Given the description of an element on the screen output the (x, y) to click on. 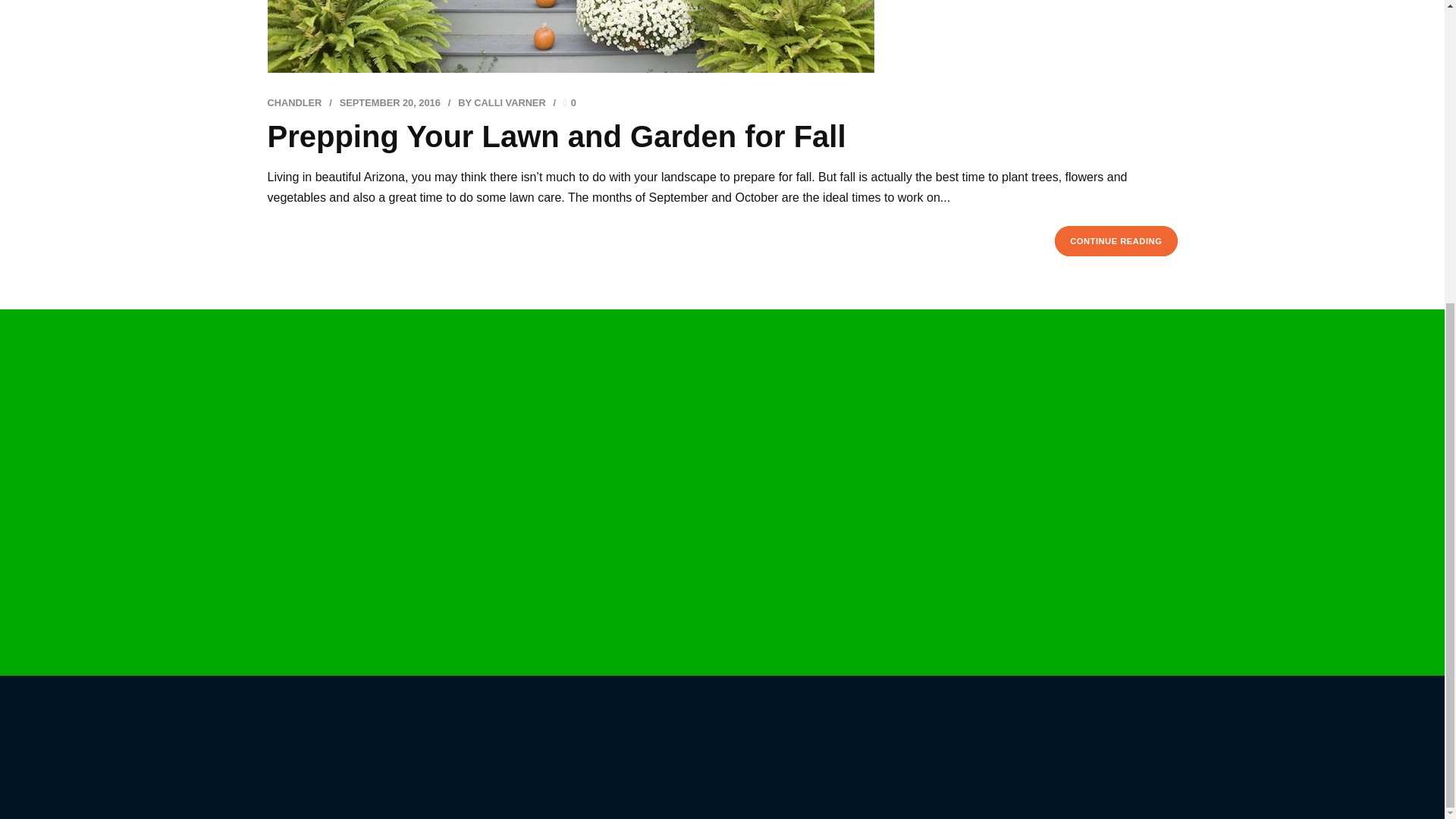
0 (569, 102)
Prepping Your Lawn and Garden for Fall (555, 136)
BY CALLI VARNER (501, 102)
Prepping Your Lawn and Garden for Fall (555, 136)
CONTINUE READING (1115, 241)
CONTINUE READING (1115, 241)
Prepping Your Lawn and Garden for Fall (721, 36)
CHANDLER (293, 102)
